Given the description of an element on the screen output the (x, y) to click on. 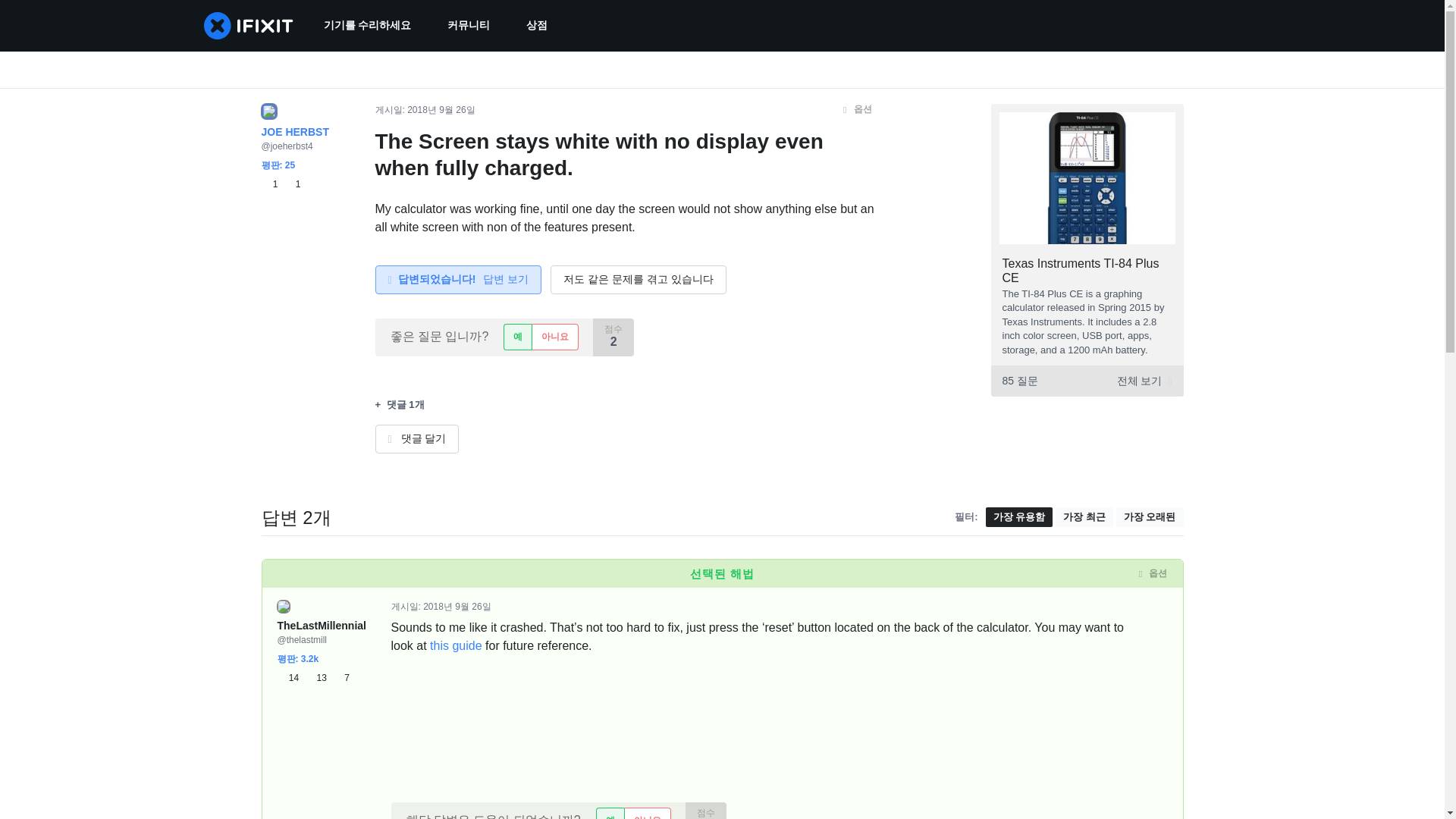
Texas Instruments TI-84 Plus CE (1080, 270)
Wed, 26 Sep 2018 09:00:09 -0700 (440, 109)
Wed, 26 Sep 2018 11:10:30 -0700 (456, 606)
14 13 7 (313, 677)
1 1 (279, 184)
this guide (455, 645)
